Given the description of an element on the screen output the (x, y) to click on. 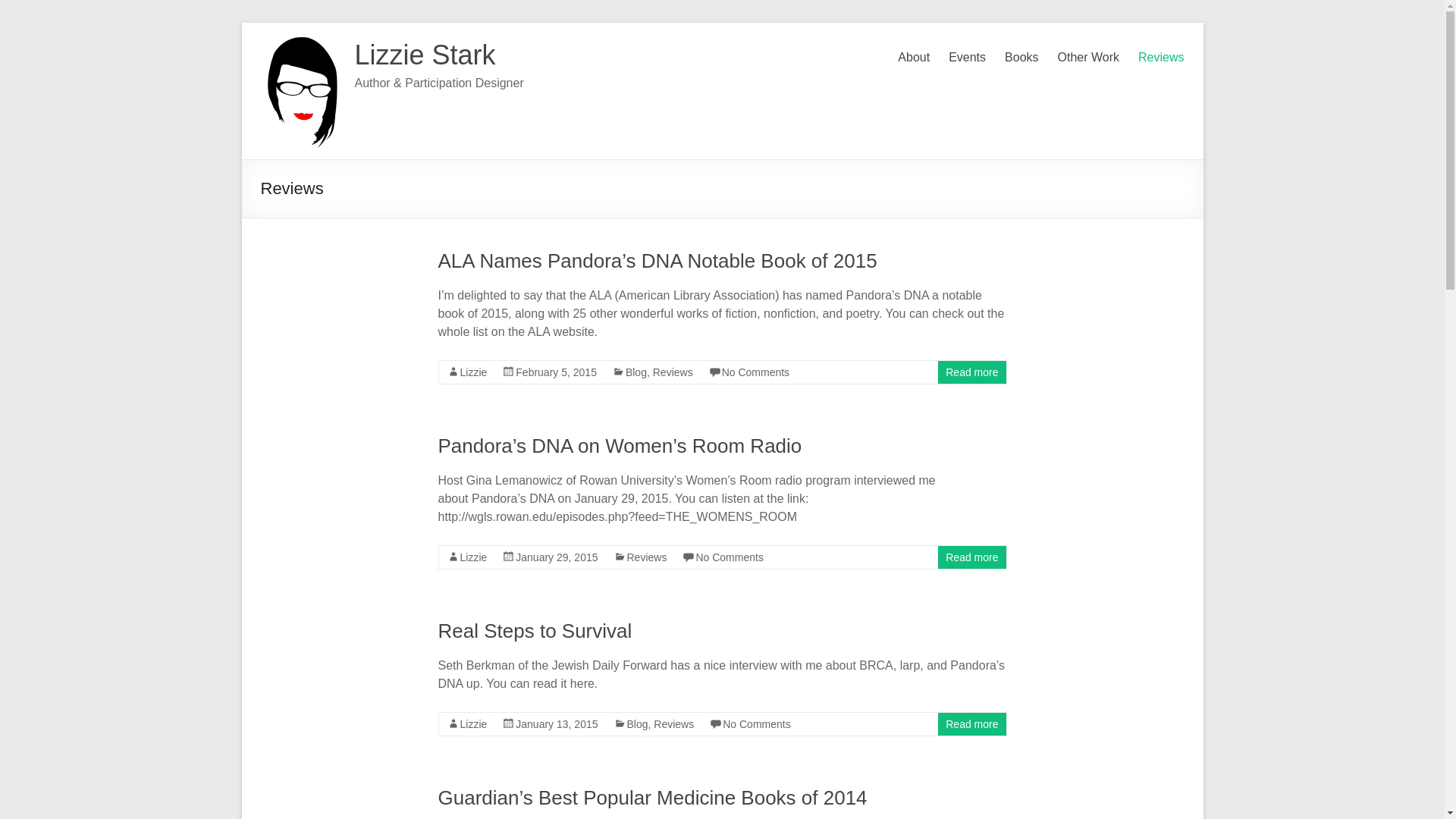
8:41 pm (555, 372)
Reviews (646, 557)
Lizzie Stark (425, 54)
8:36 pm (555, 557)
Real Steps to Survival (534, 630)
No Comments (756, 724)
February 5, 2015 (555, 372)
4:16 pm (555, 724)
Read more (970, 724)
Other Work (1088, 54)
